Given the description of an element on the screen output the (x, y) to click on. 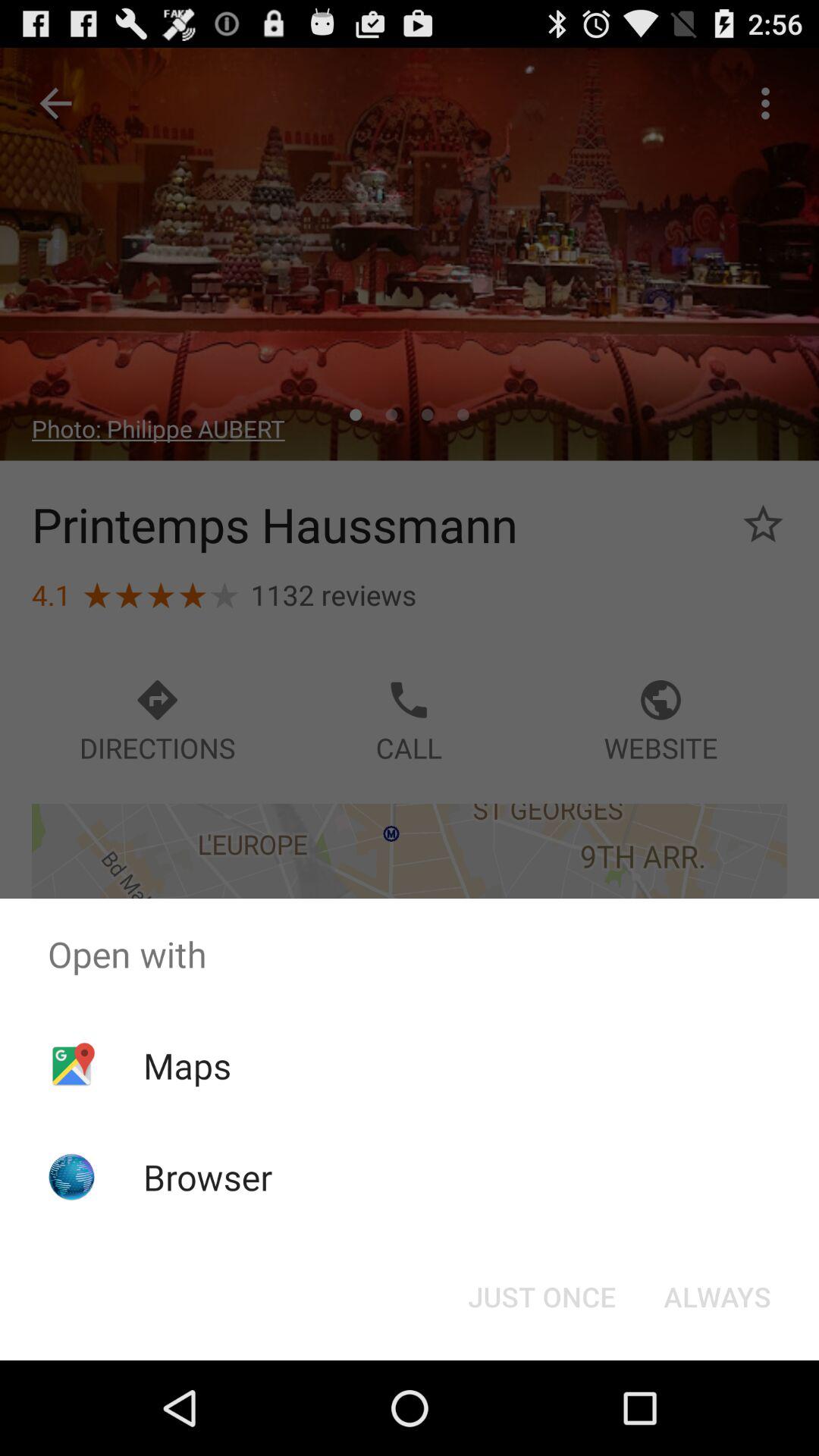
press the icon below open with (541, 1296)
